Given the description of an element on the screen output the (x, y) to click on. 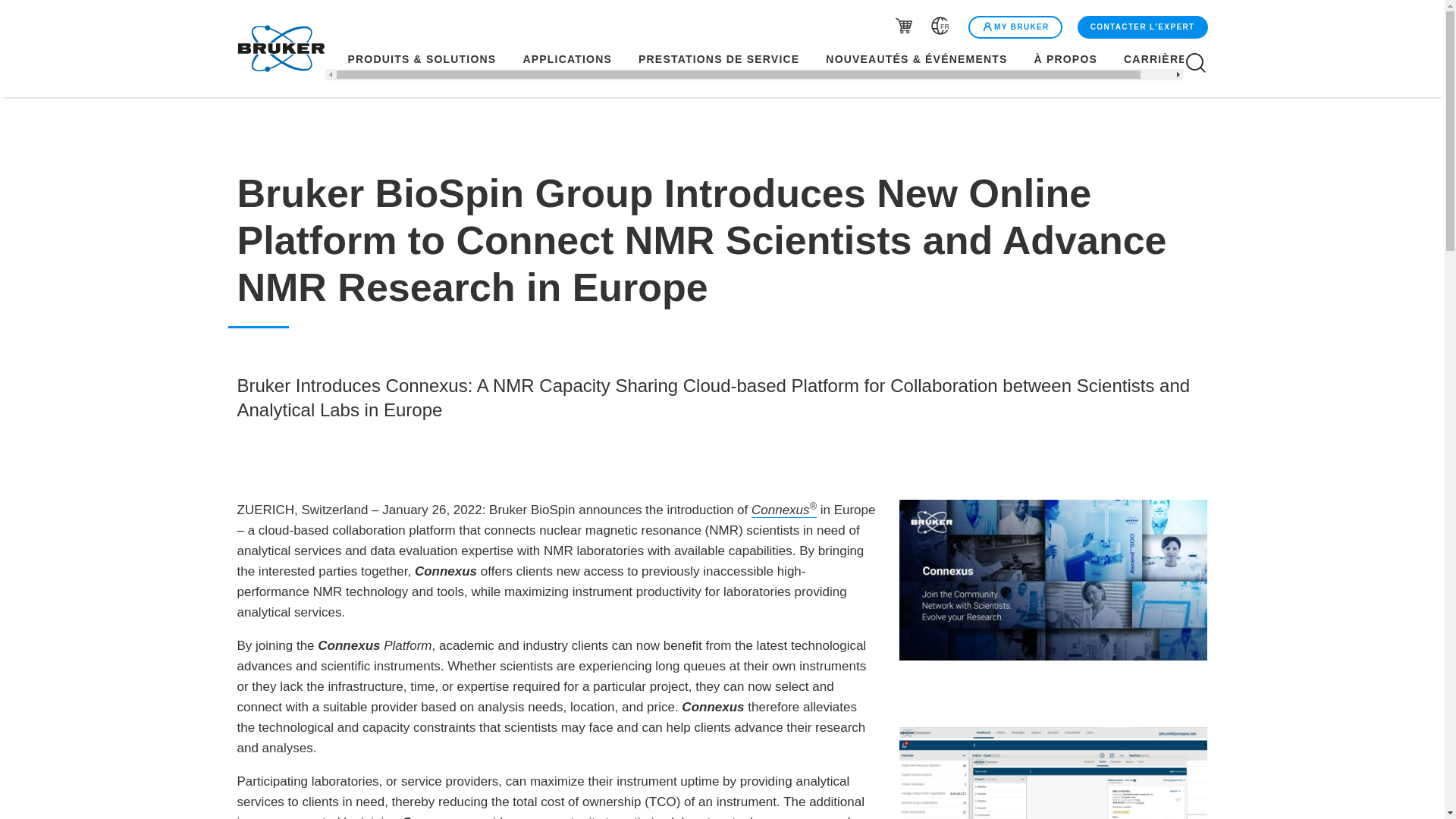
CONTACTER L'EXPERT (1141, 27)
MY BRUKER (1015, 26)
Connexion (1015, 26)
CONTACTER L'EXPERT (1142, 26)
PRESTATIONS DE SERVICE (718, 59)
APPLICATIONS (566, 59)
